Given the description of an element on the screen output the (x, y) to click on. 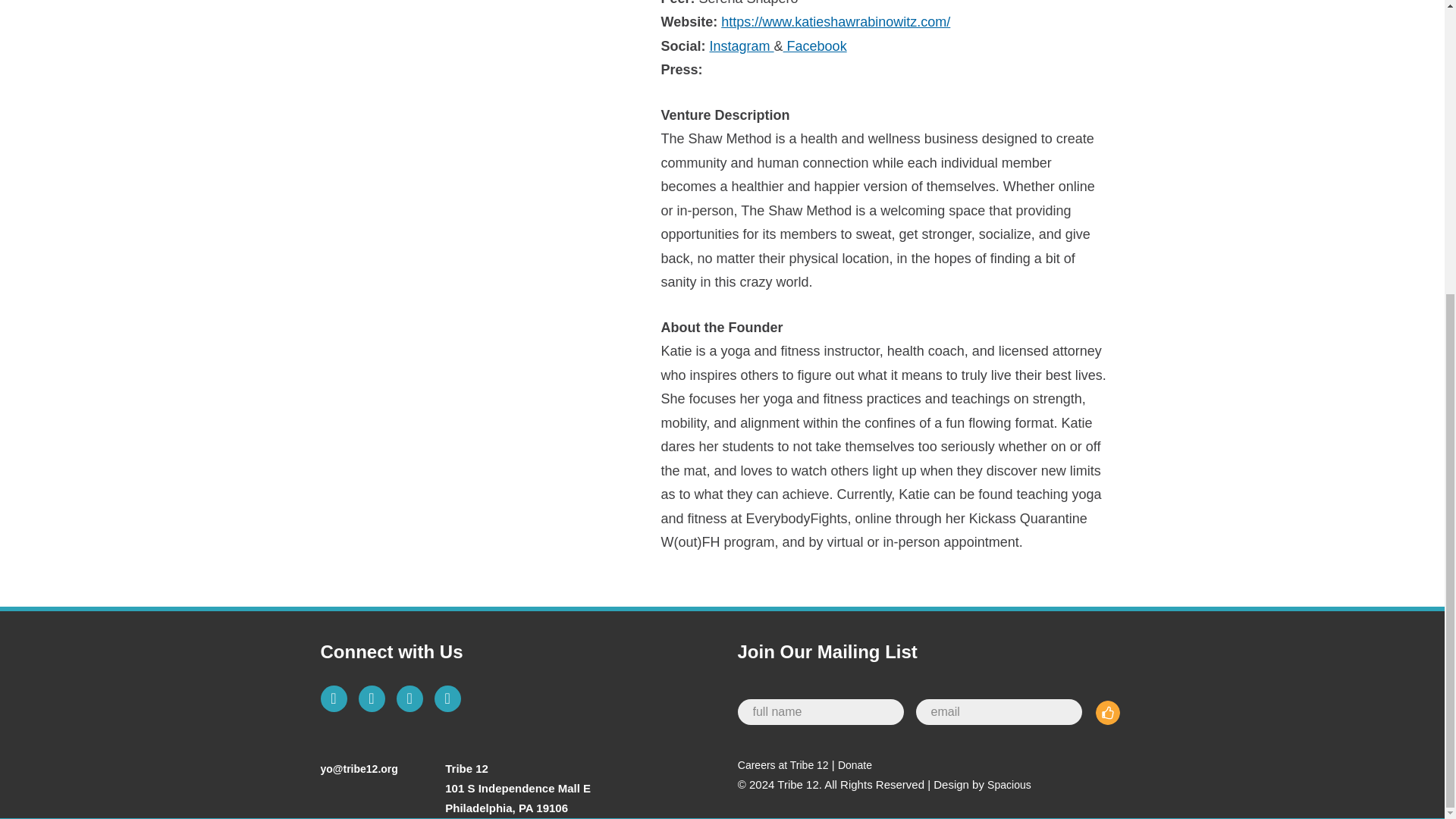
Spacious (1008, 784)
Facebook (815, 46)
Donate (855, 765)
Instagram (742, 46)
Careers at Tribe 12 (783, 765)
